Given the description of an element on the screen output the (x, y) to click on. 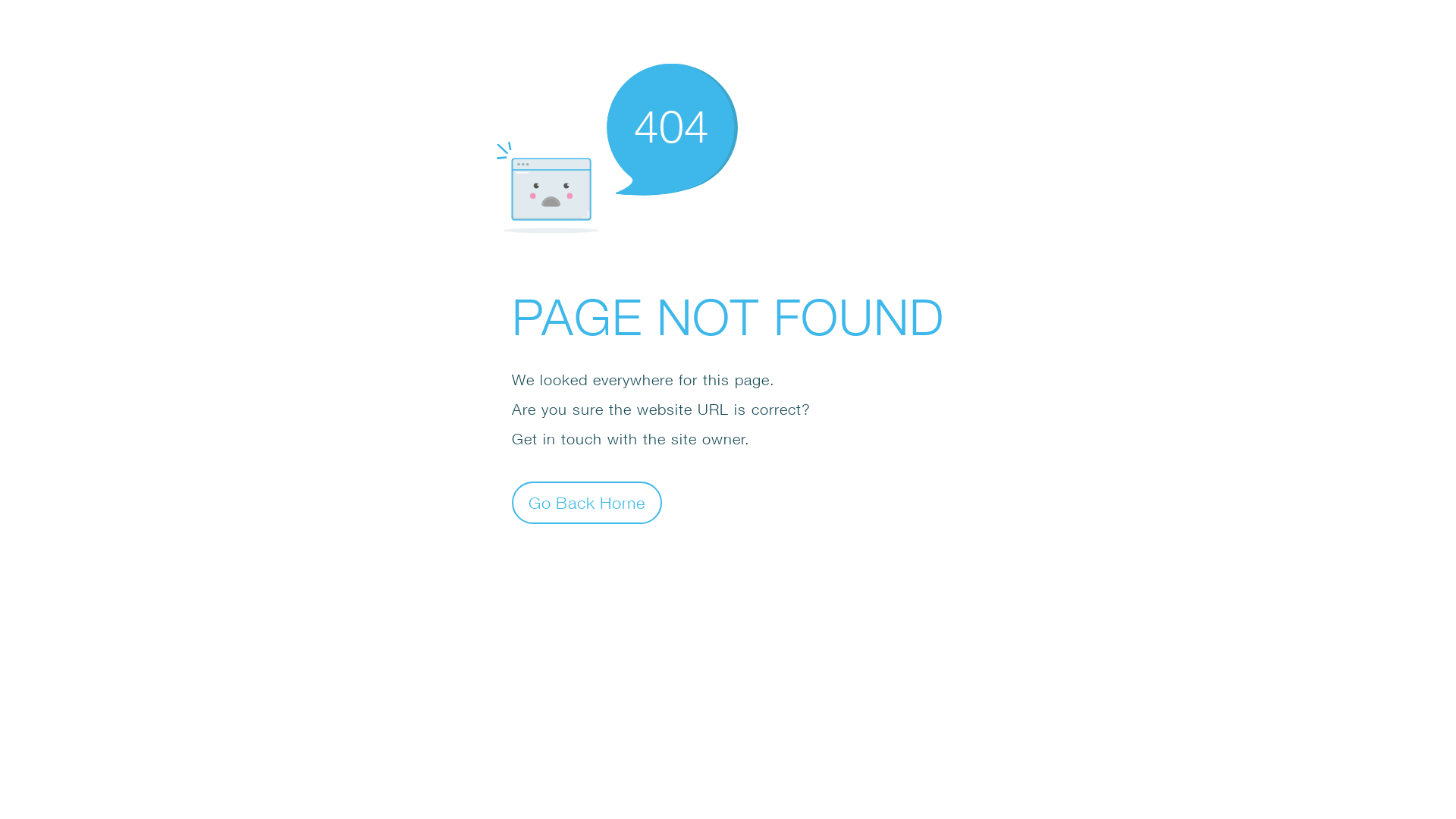
Go Back Home Element type: text (586, 502)
